Given the description of an element on the screen output the (x, y) to click on. 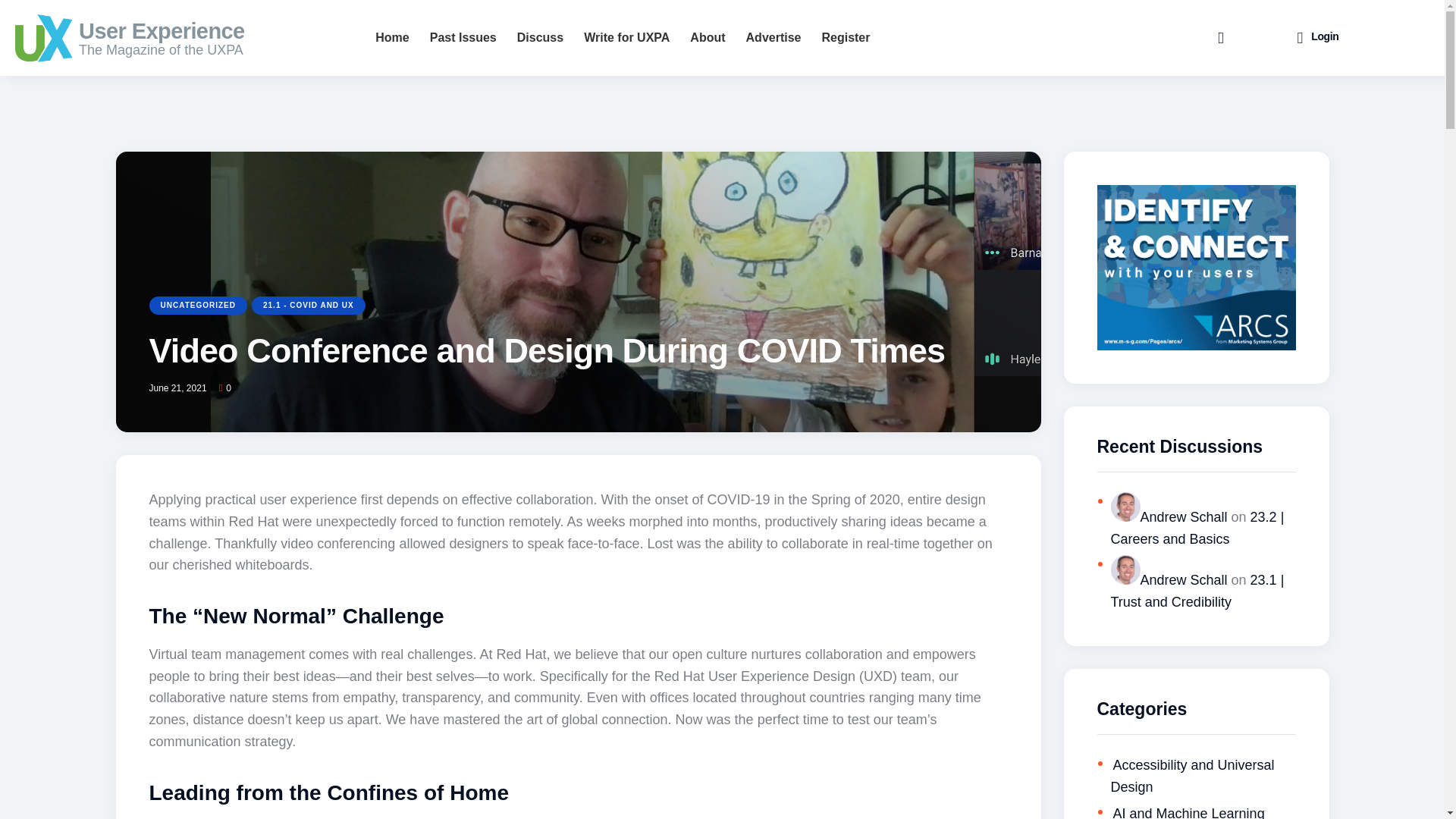
Discuss (540, 37)
Test message to the forum (1196, 590)
Login (1317, 37)
About (707, 37)
View Andrew Schall's profile (1168, 580)
Advertise (773, 37)
Testing forum post to Careers and Basics (1196, 528)
Register (844, 37)
User Experience (205, 30)
View Andrew Schall's profile (1168, 516)
